Given the description of an element on the screen output the (x, y) to click on. 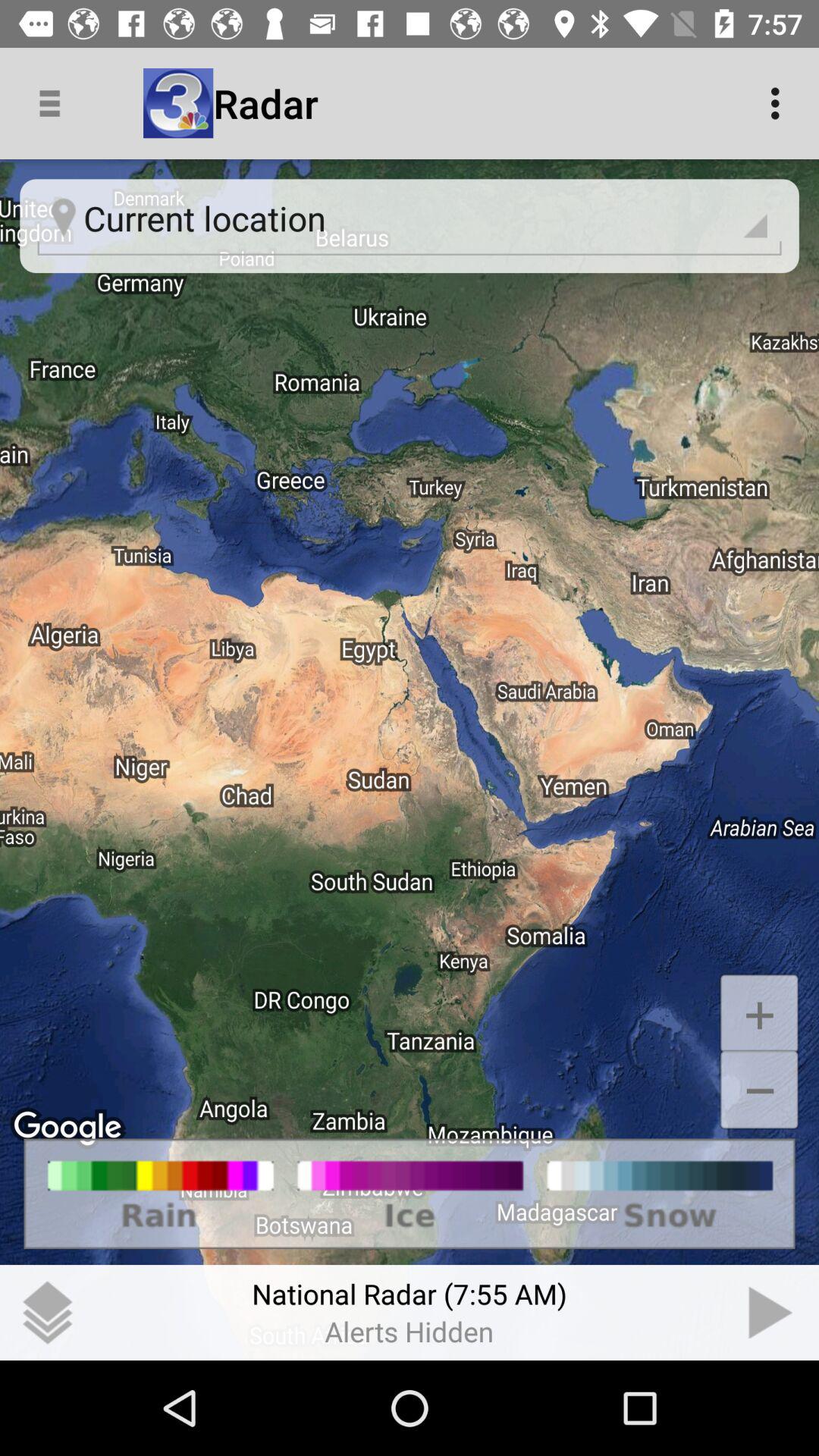
go back (771, 1312)
